Given the description of an element on the screen output the (x, y) to click on. 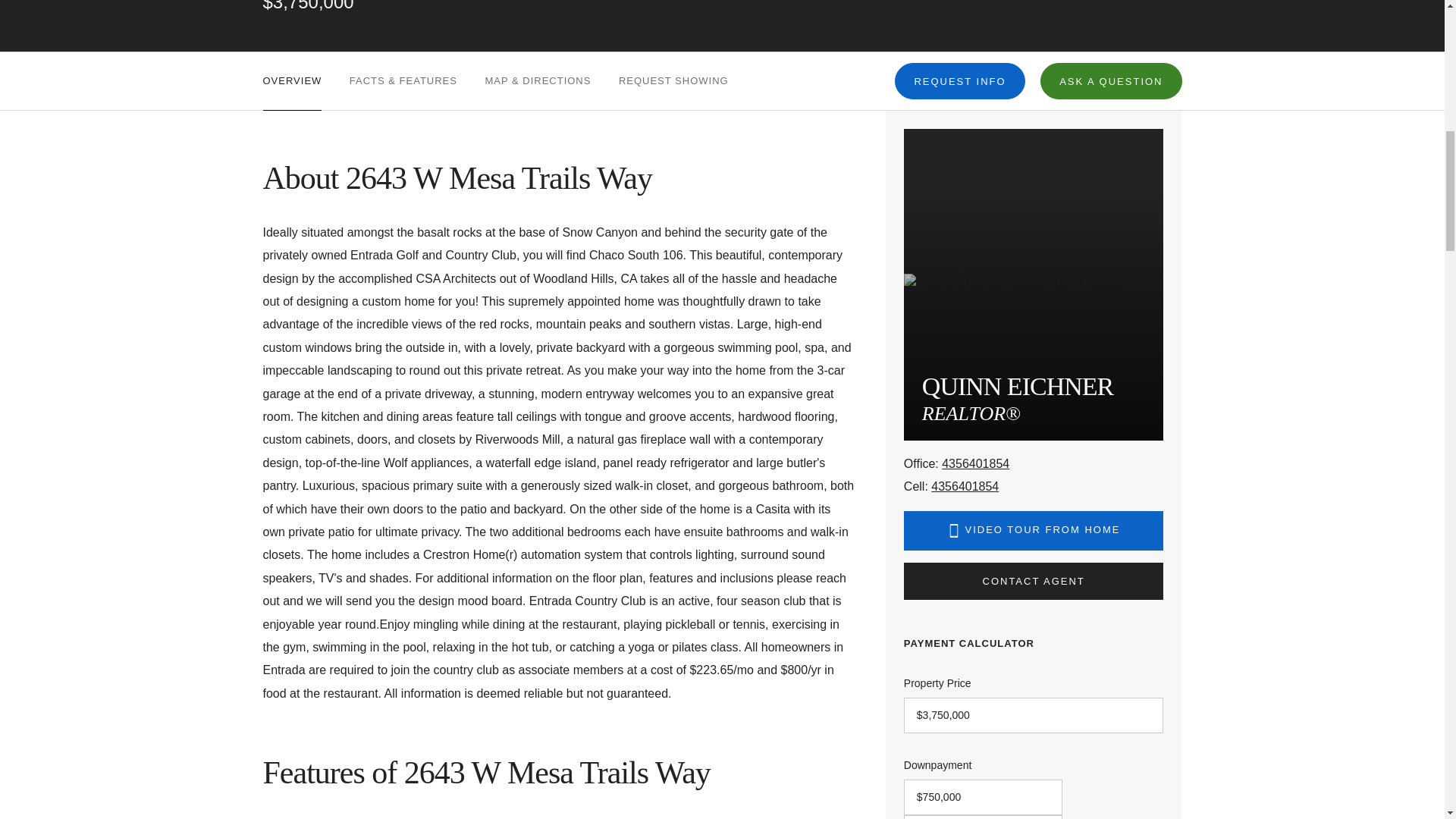
MOBILE ICON (953, 530)
